Given the description of an element on the screen output the (x, y) to click on. 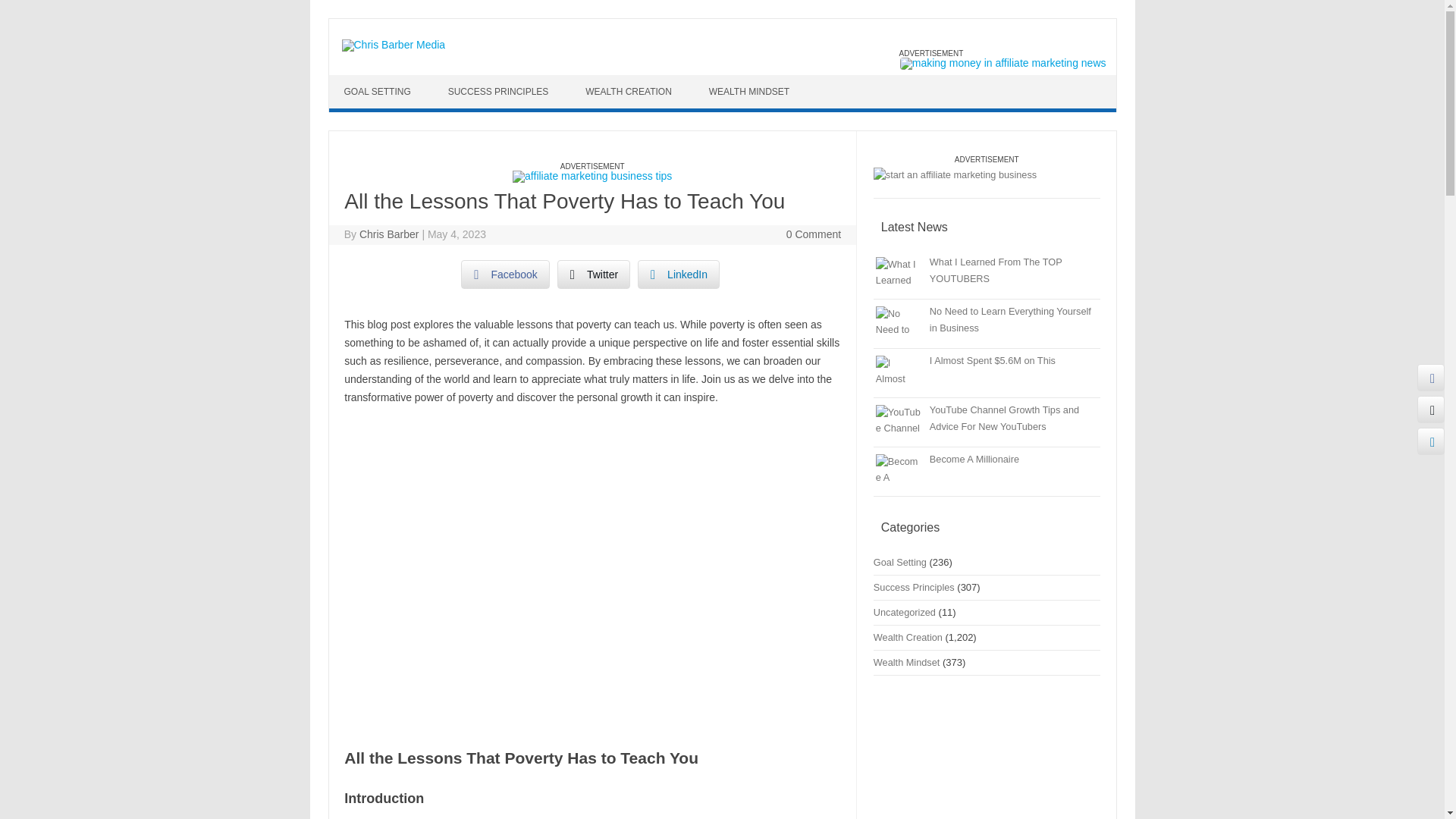
WEALTH MINDSET (751, 91)
Chris Barber (389, 234)
Facebook (504, 274)
Posts by Chris Barber (389, 234)
WEALTH CREATION (630, 91)
Chris Barber Media (392, 44)
Twitter (593, 274)
SUCCESS PRINCIPLES (499, 91)
0 Comment (813, 234)
Skip to content (363, 80)
GOAL SETTING (379, 91)
LinkedIn (678, 274)
Skip to content (363, 80)
